Given the description of an element on the screen output the (x, y) to click on. 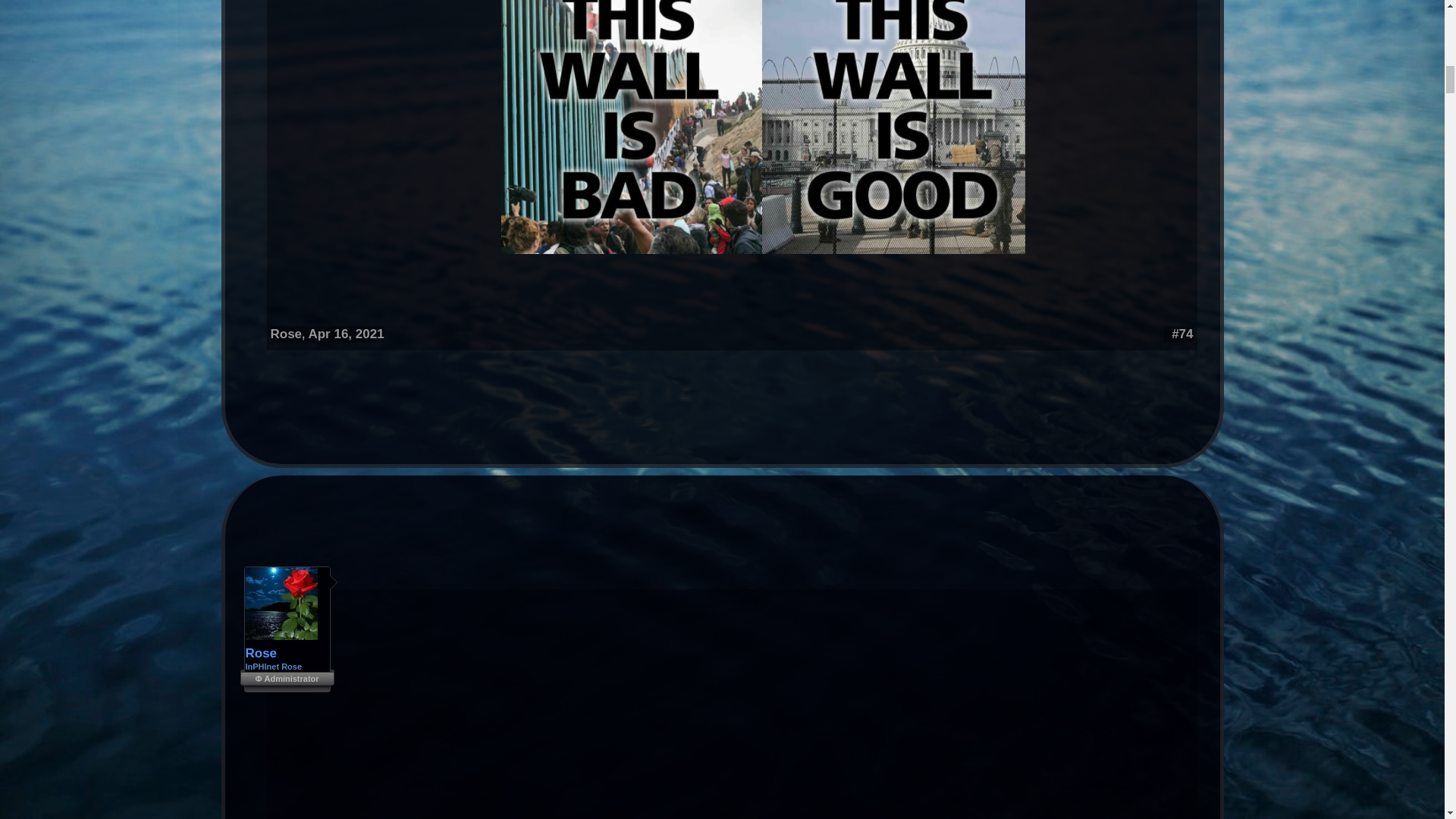
Permalink (1182, 334)
Permalink (345, 333)
